Given the description of an element on the screen output the (x, y) to click on. 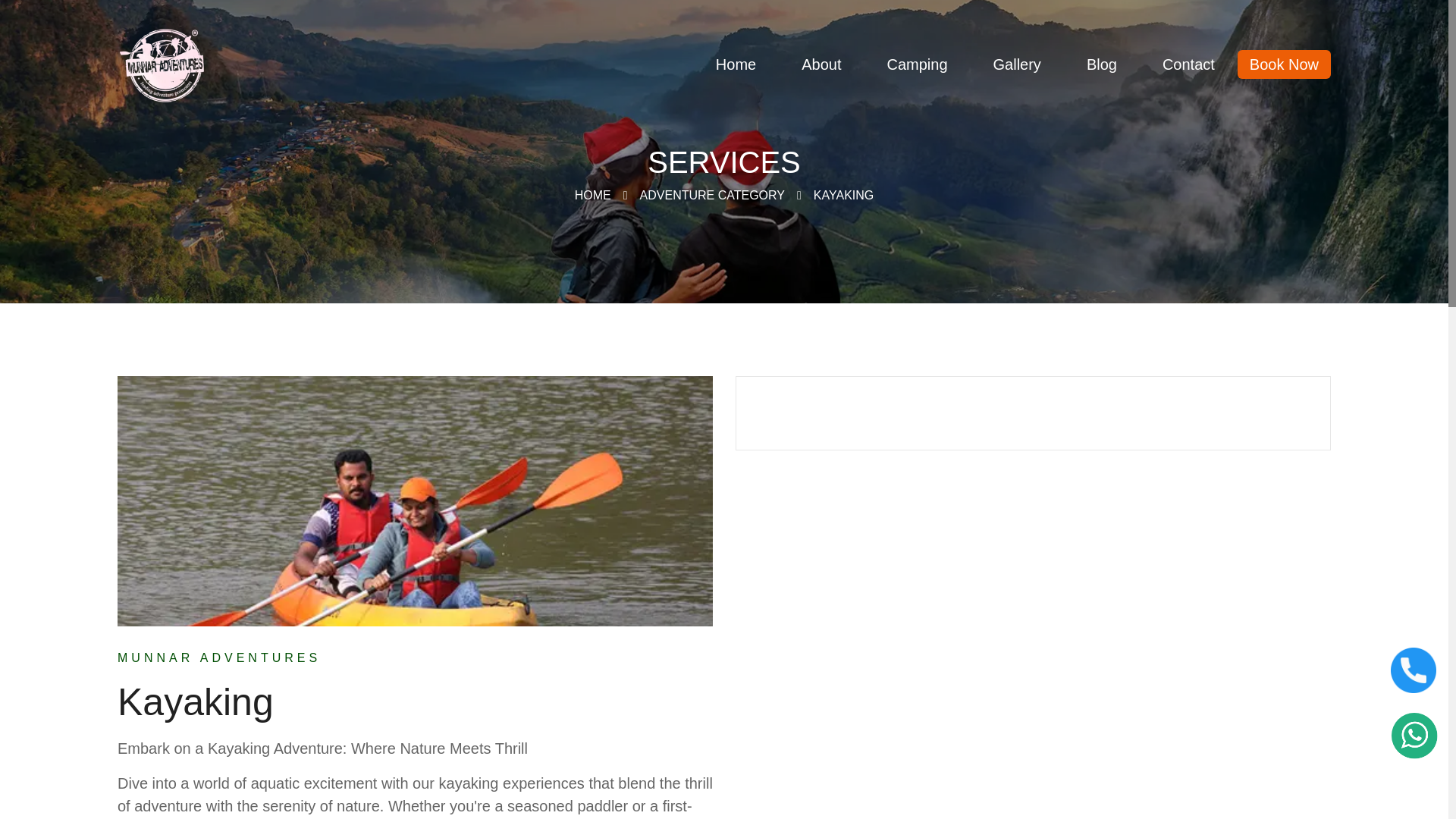
Home (735, 64)
HOME (593, 195)
Blog (1102, 64)
Gallery (1017, 64)
Camping (916, 64)
Contact (1188, 64)
Book Now (1283, 63)
About (820, 64)
ADVENTURE CATEGORY (712, 195)
MUNNAR ADVENTURES (218, 658)
